Given the description of an element on the screen output the (x, y) to click on. 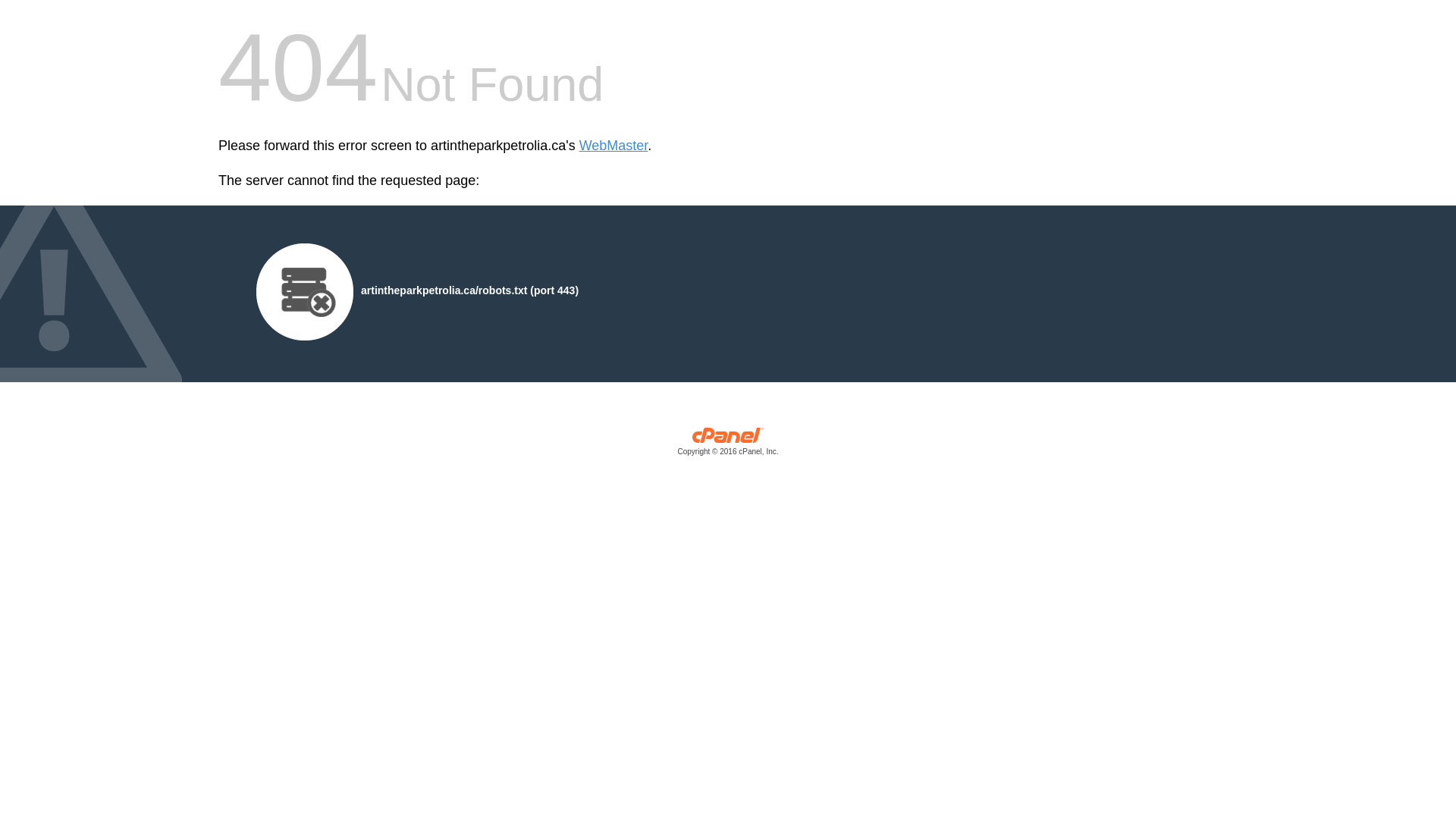
WebMaster Element type: text (613, 145)
